Given the description of an element on the screen output the (x, y) to click on. 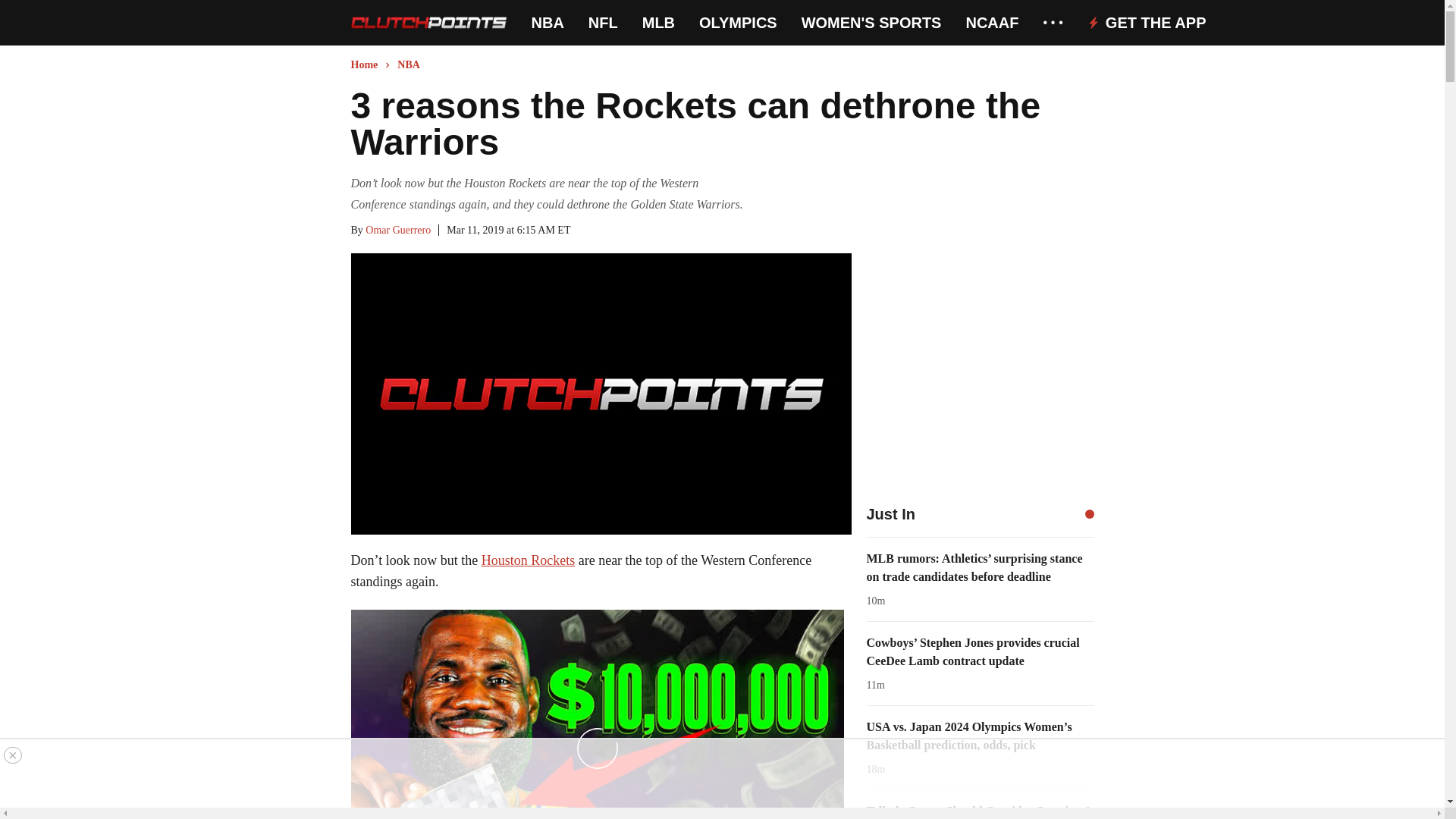
NFL (602, 22)
MLB (658, 22)
NBA (547, 22)
NBA (547, 22)
NFL (602, 22)
